Given the description of an element on the screen output the (x, y) to click on. 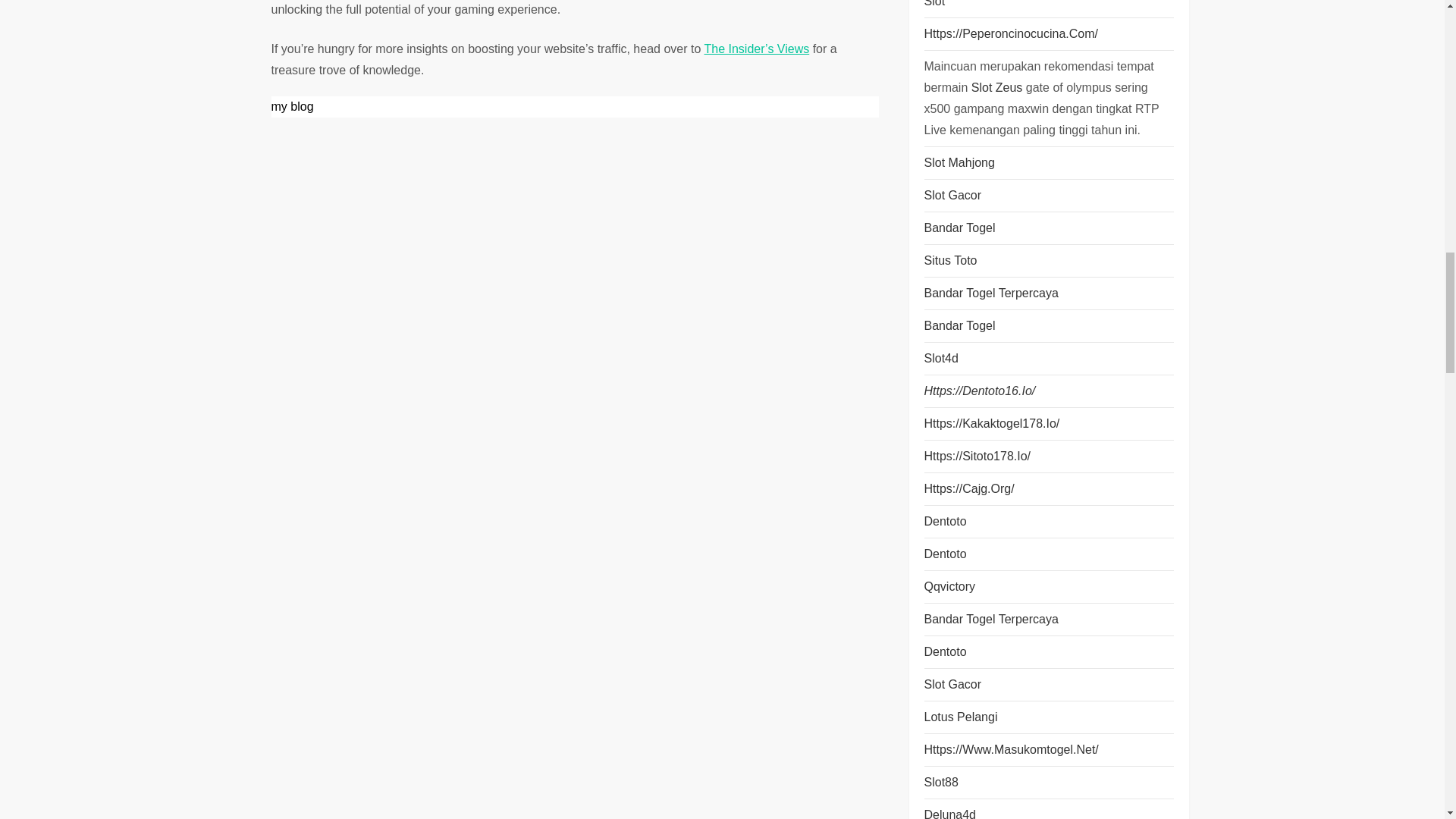
my blog (292, 106)
